Given the description of an element on the screen output the (x, y) to click on. 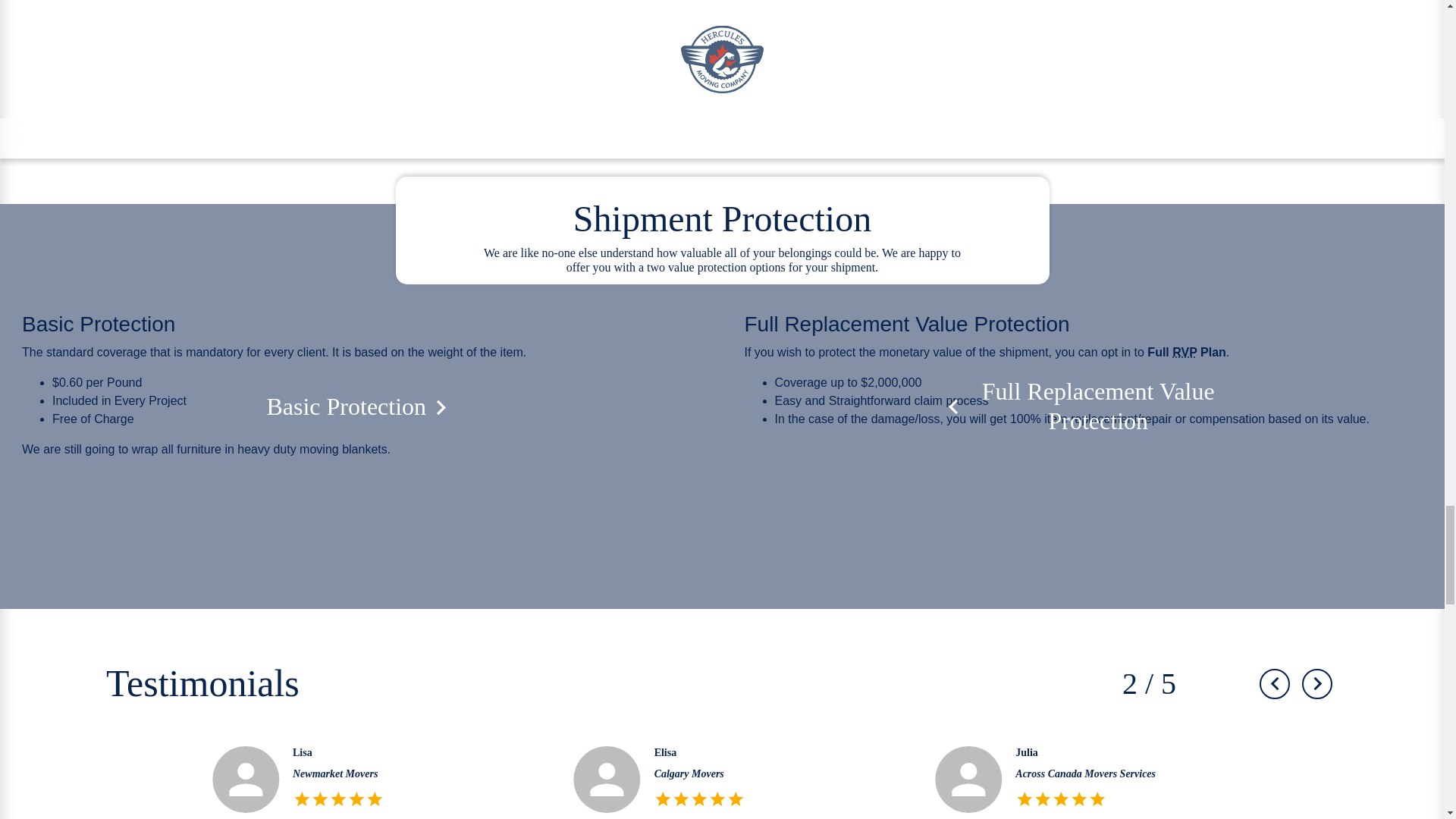
Replacement Value Protection (1184, 351)
